Given the description of an element on the screen output the (x, y) to click on. 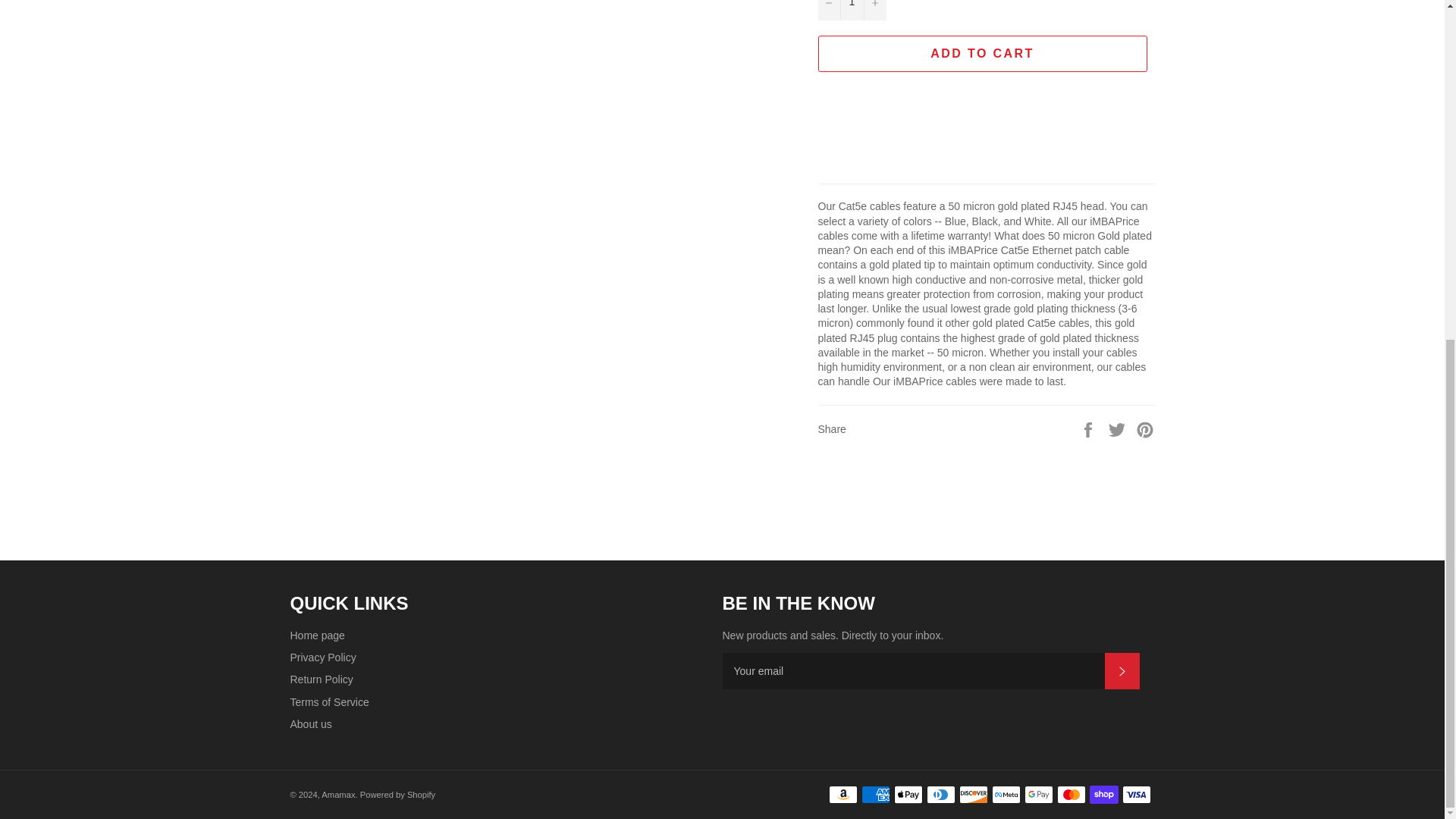
Share on Facebook (1089, 428)
1 (850, 10)
Tweet on Twitter (1118, 428)
Pin on Pinterest (1144, 428)
